Given the description of an element on the screen output the (x, y) to click on. 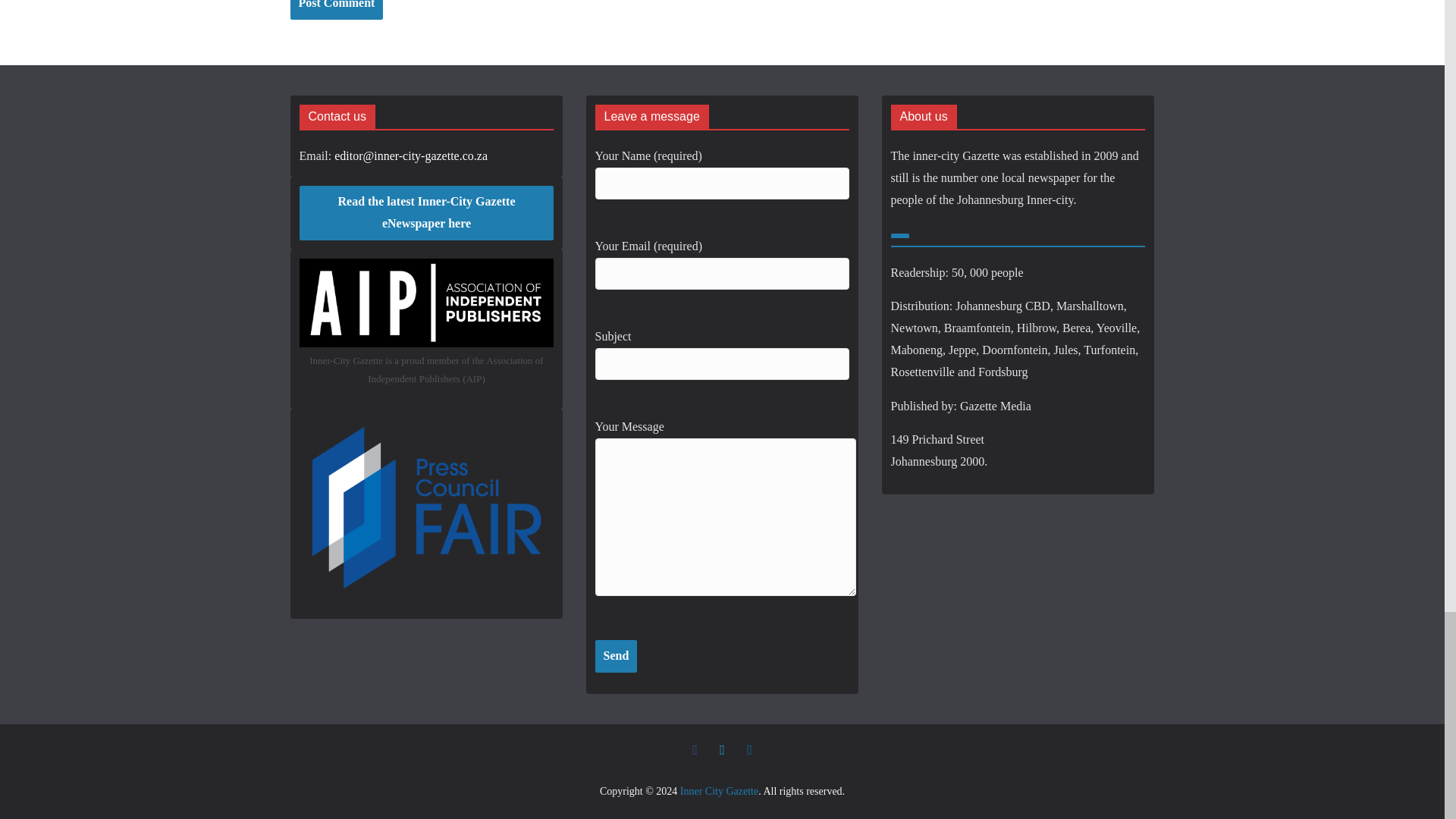
Send (615, 655)
Post Comment (335, 9)
